Given the description of an element on the screen output the (x, y) to click on. 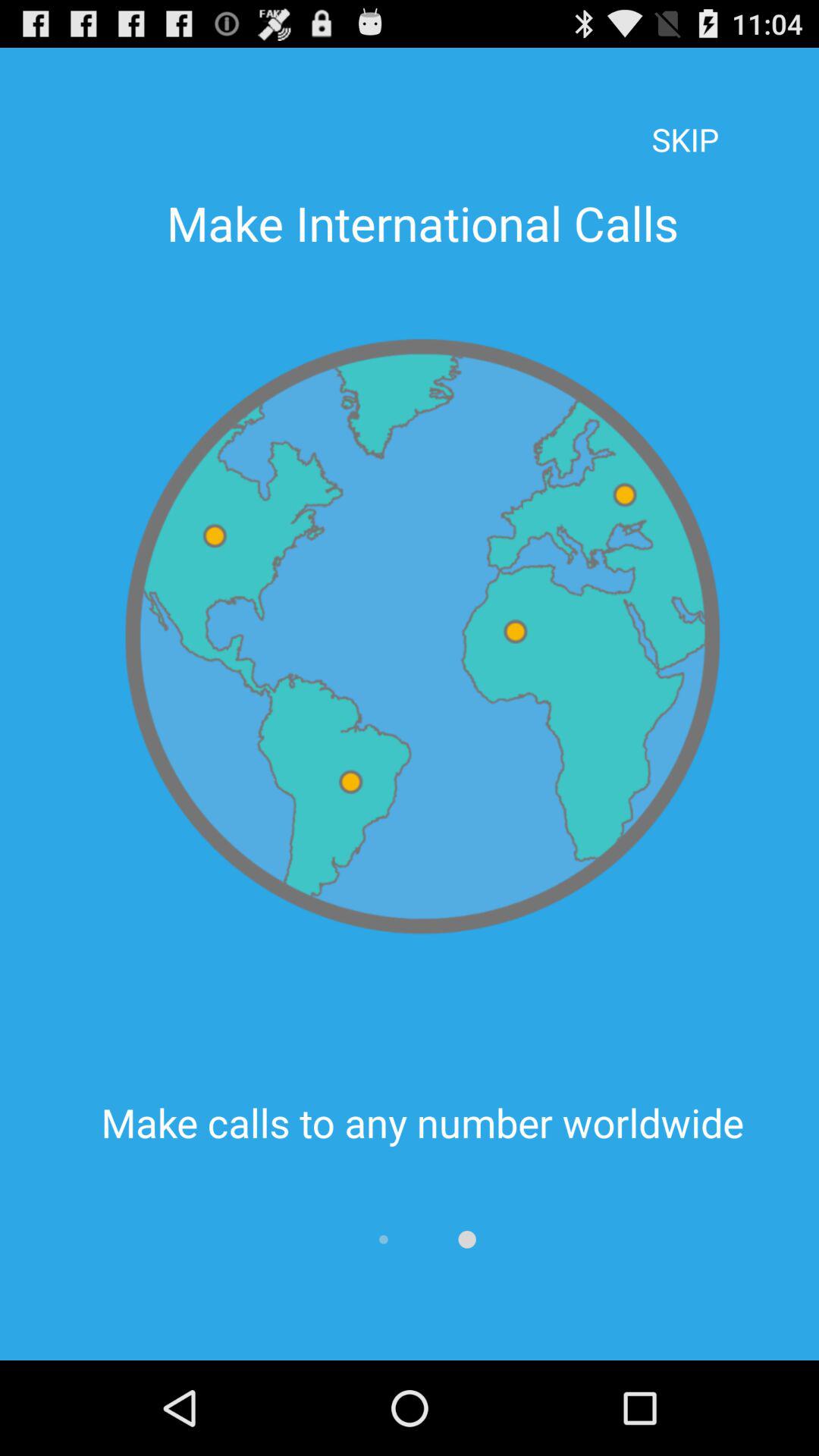
indicating page two of two (467, 1239)
